Given the description of an element on the screen output the (x, y) to click on. 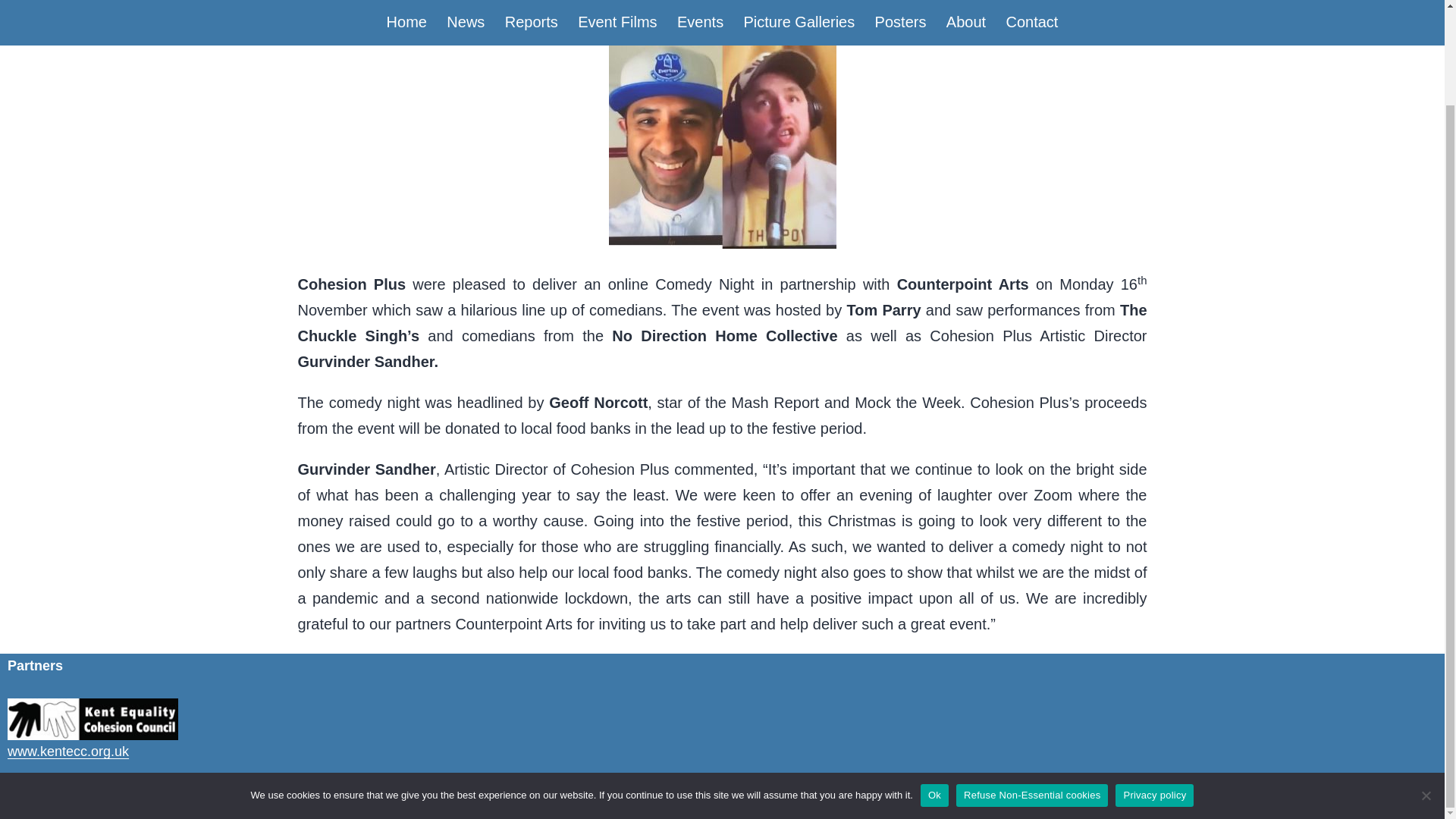
GG Knight Web Design (817, 796)
Picture Galleries (798, 3)
Event Films (616, 3)
Refuse Non-Essential cookies (1425, 685)
Events (699, 3)
Contact (1031, 3)
About (965, 3)
Ok (934, 685)
Reports (531, 3)
News (465, 3)
